Given the description of an element on the screen output the (x, y) to click on. 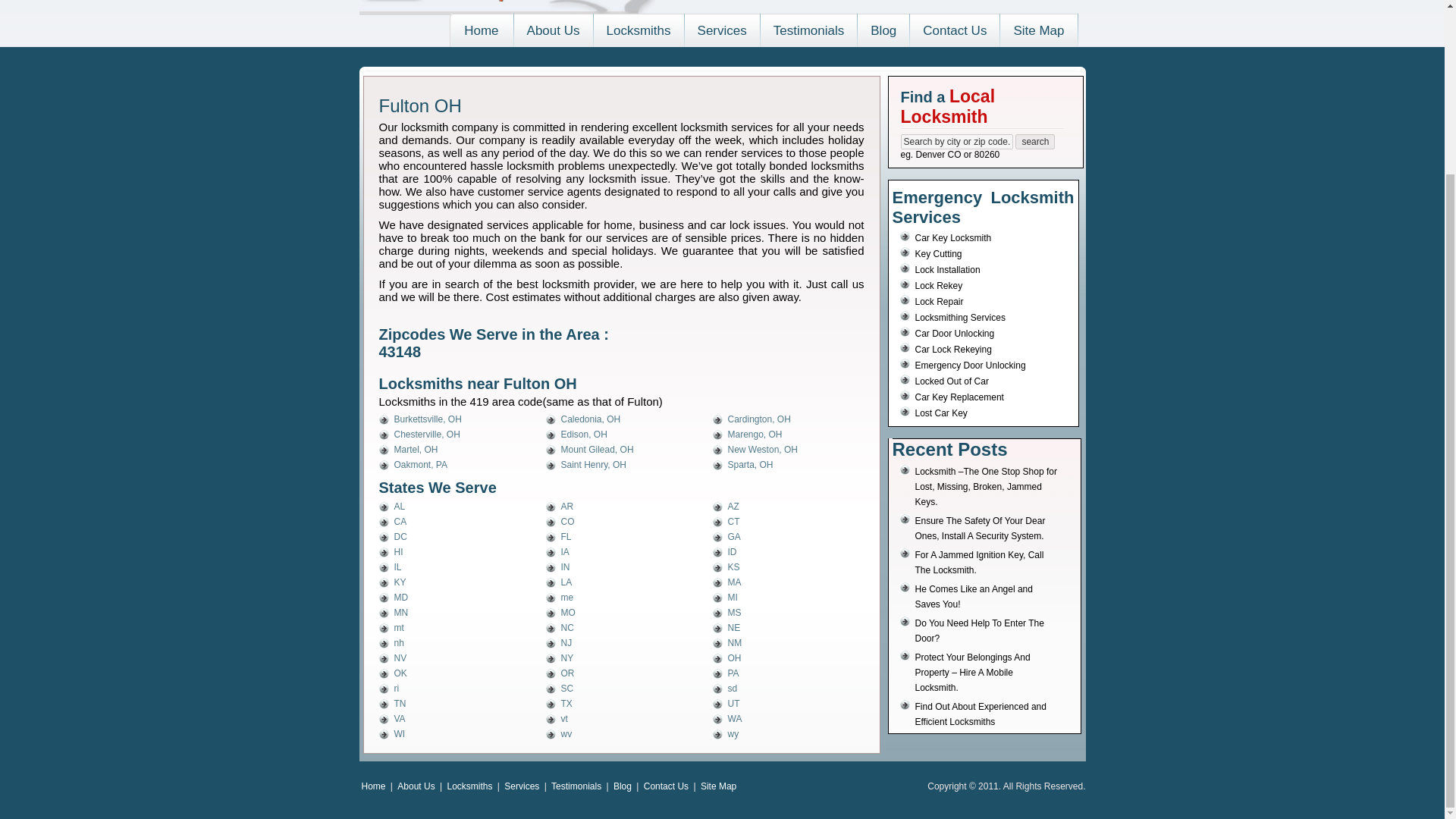
Sparta, OH (750, 464)
Contact Us (954, 30)
Services (722, 30)
Search by city or zip code. (957, 141)
AZ (733, 506)
CT (733, 521)
Emergency Local Locksmith (507, 7)
Permanent Link to Mount Gilead OH (596, 449)
Blog (882, 30)
FL (566, 536)
